Given the description of an element on the screen output the (x, y) to click on. 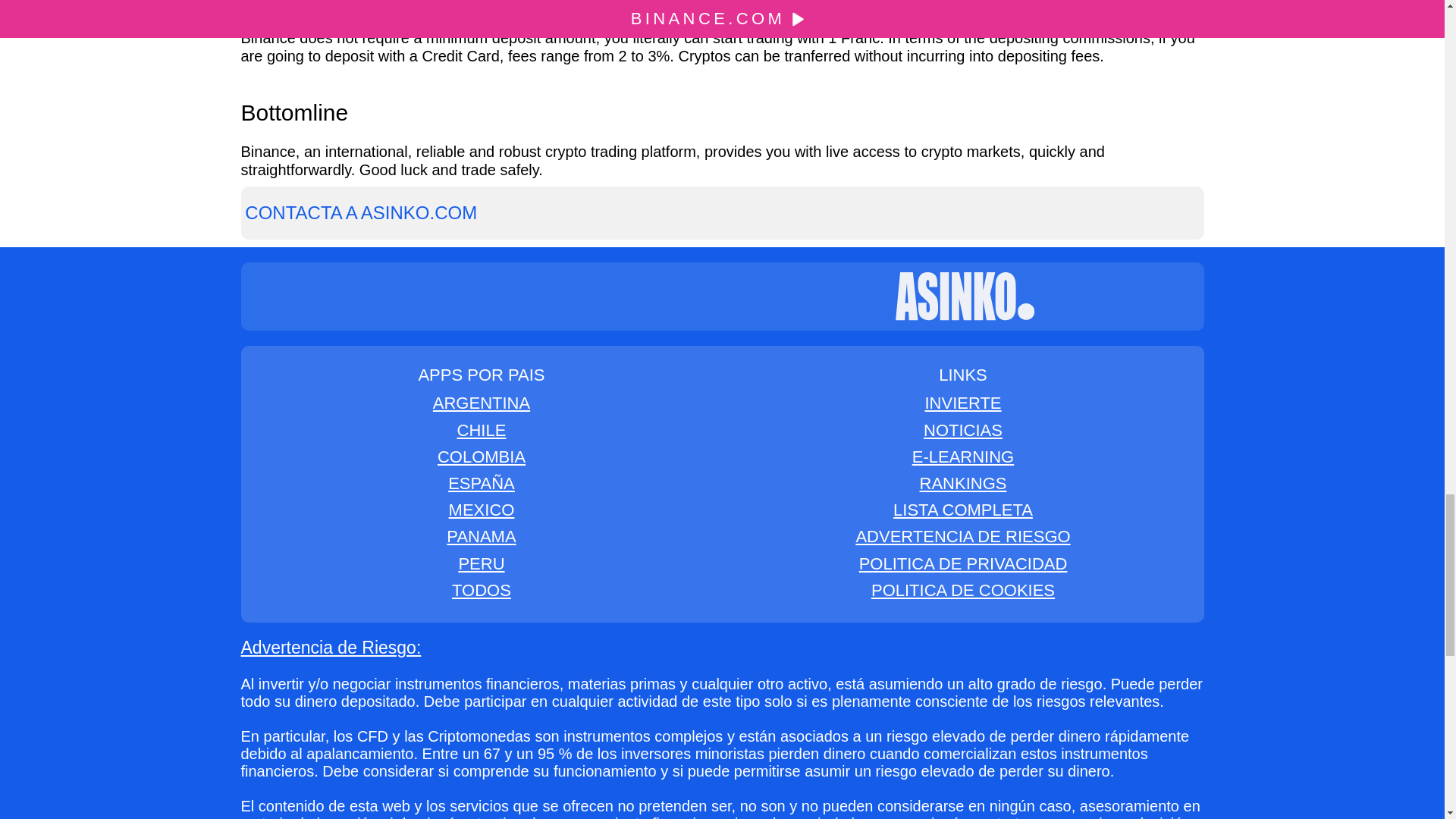
TODOS (481, 589)
POLITICA DE COOKIES (962, 589)
PERU (480, 563)
PANAMA (480, 536)
ADVERTENCIA DE RIESGO (963, 536)
RANKINGS (963, 483)
ARGENTINA (480, 402)
NOTICIAS (963, 429)
CHILE (481, 429)
MEXICO (481, 509)
